Given the description of an element on the screen output the (x, y) to click on. 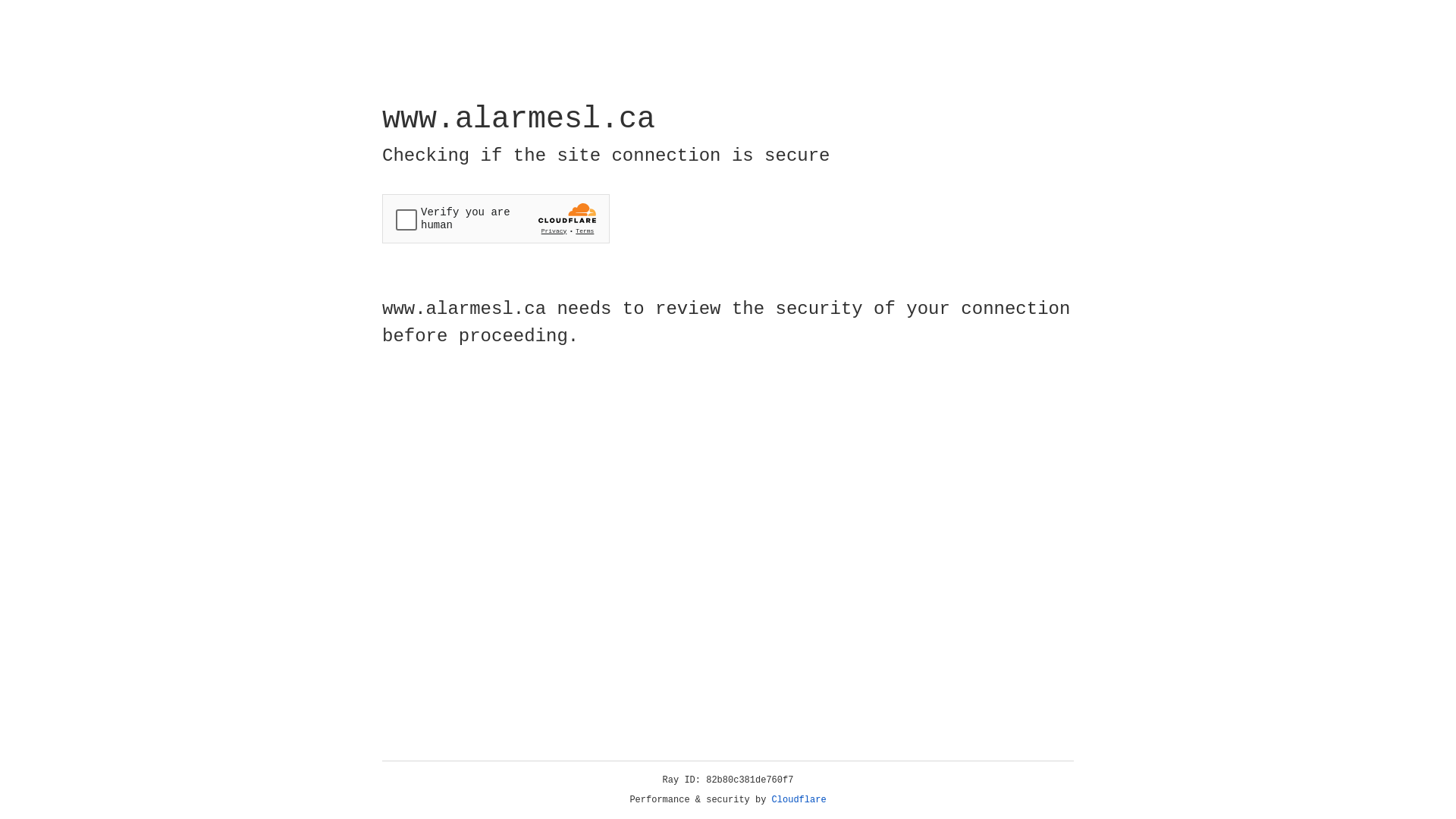
Widget containing a Cloudflare security challenge Element type: hover (495, 218)
Cloudflare Element type: text (798, 799)
